Given the description of an element on the screen output the (x, y) to click on. 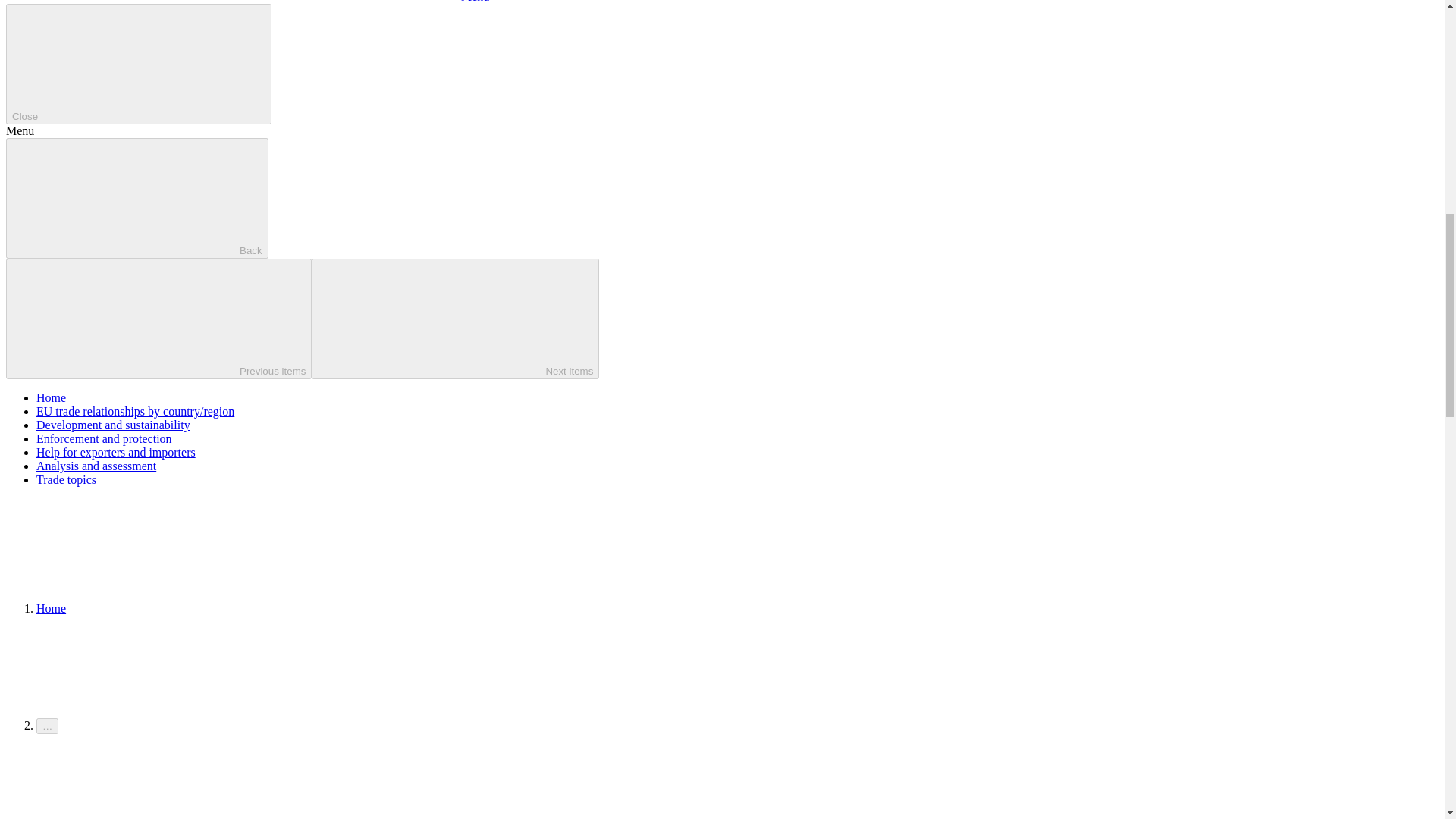
Home (50, 397)
Previous items (158, 318)
Home (50, 608)
Close (137, 64)
Development and sustainability (113, 424)
Back (136, 198)
Next items (454, 318)
Analysis and assessment (95, 465)
Enforcement and protection (103, 438)
